Given the description of an element on the screen output the (x, y) to click on. 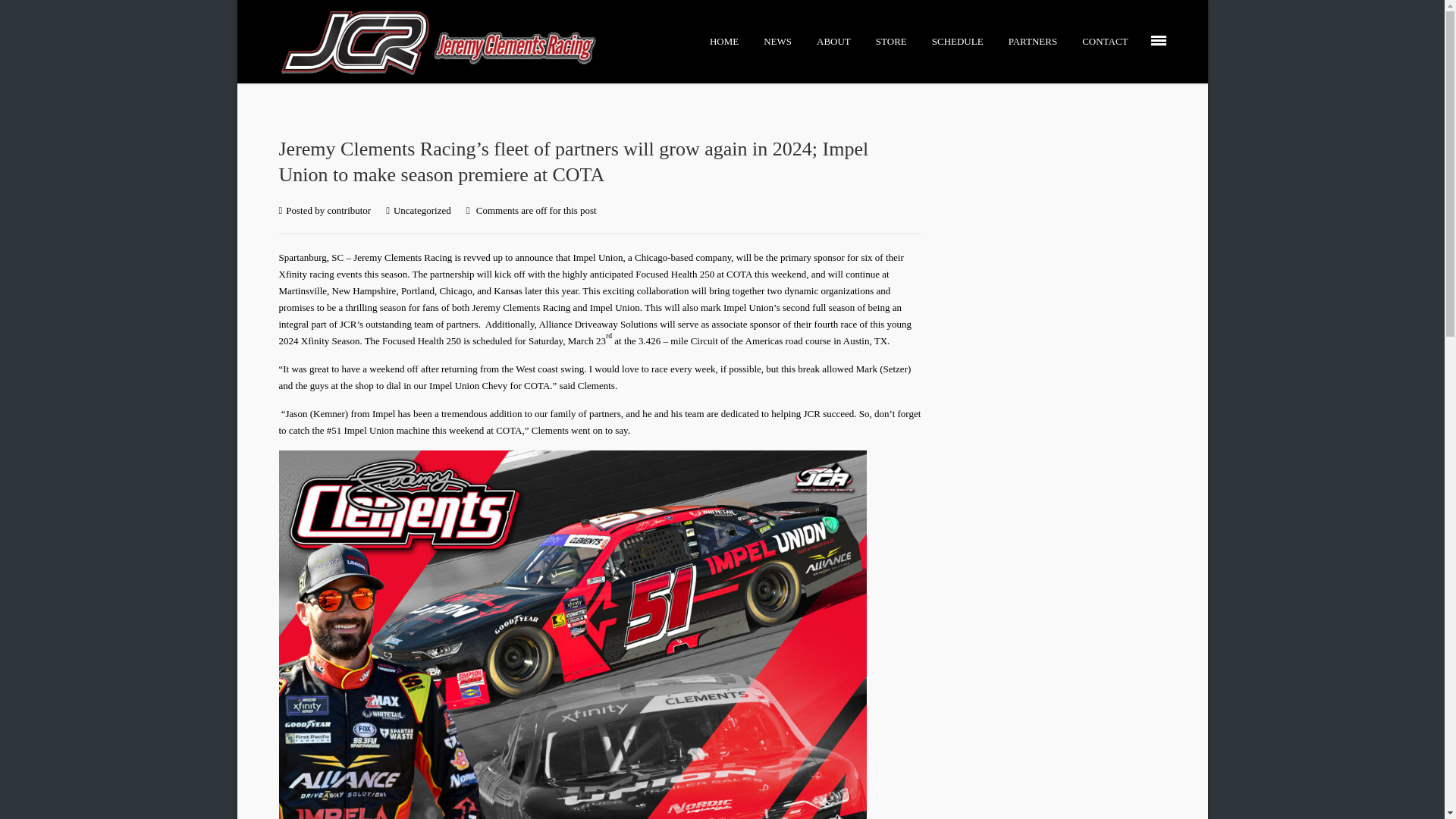
PARTNERS (1032, 41)
View all posts by contributor (348, 210)
Toggle sidebar (1158, 40)
ABOUT (833, 41)
STORE (891, 41)
SCHEDULE (957, 41)
Uncategorized (422, 210)
NEWS (777, 41)
HOME (723, 41)
CONTACT (1104, 41)
contributor (348, 210)
Jeremy Clements Racing (443, 41)
